Given the description of an element on the screen output the (x, y) to click on. 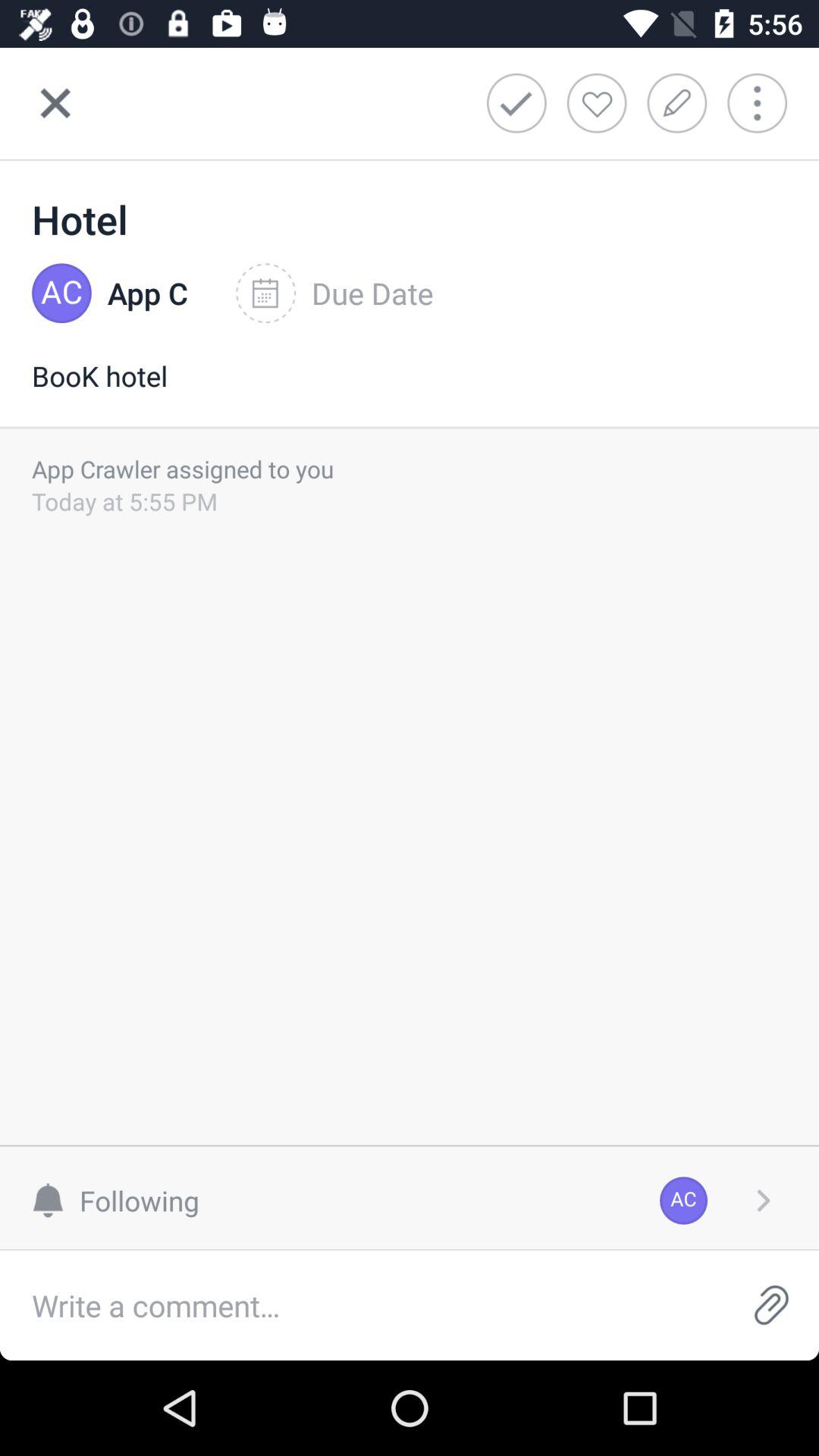
launch the app c item (147, 293)
